Given the description of an element on the screen output the (x, y) to click on. 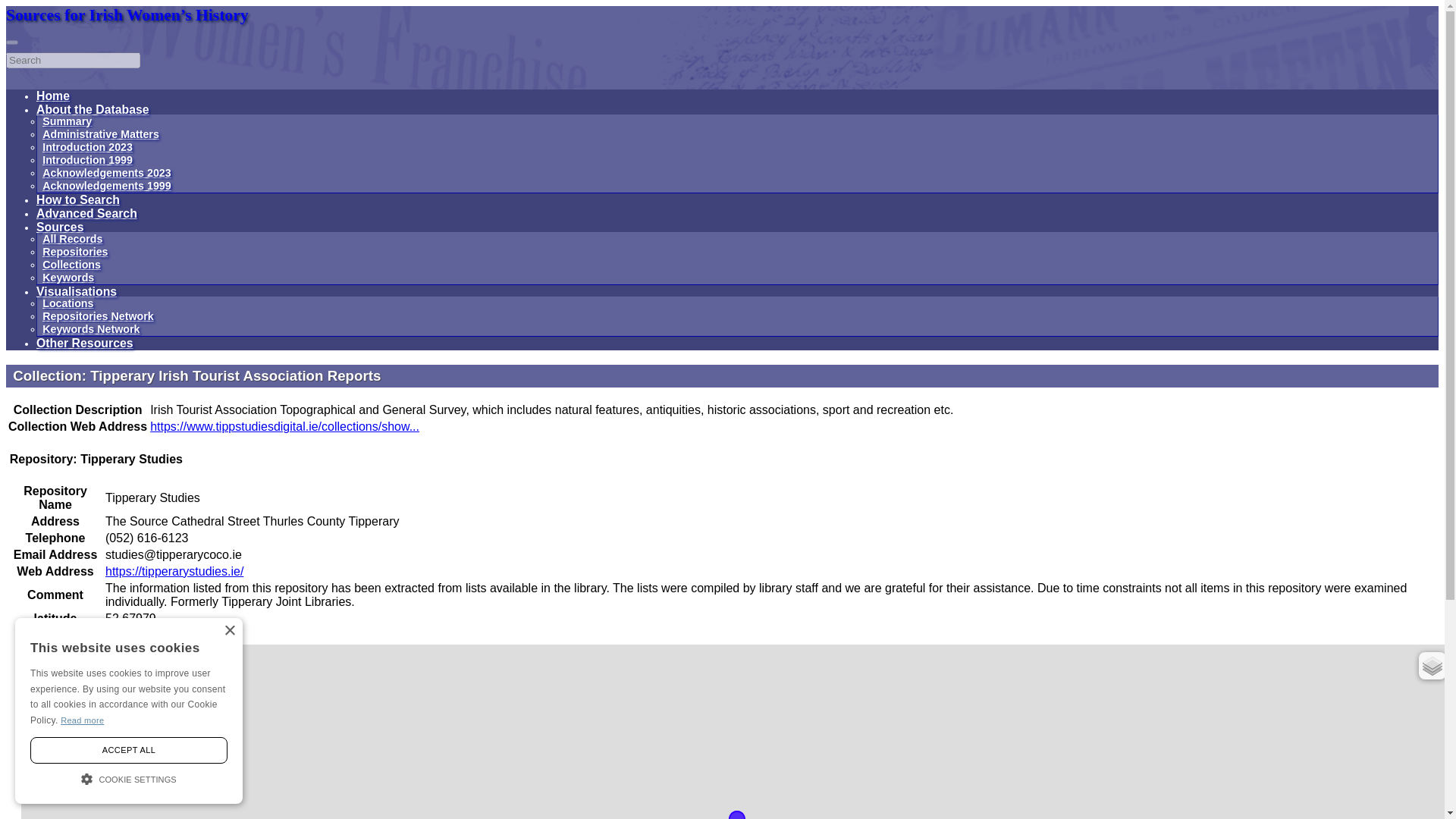
How to Search (77, 199)
All Records (71, 238)
Introduction 1999 (87, 159)
- (40, 679)
Keywords (68, 277)
Locations (67, 303)
Read more (82, 719)
Sources (59, 226)
Repositories Network (98, 316)
Other Resources (84, 342)
Introduction 2023 (87, 146)
Home (52, 95)
Zoom out (40, 679)
Collections (71, 264)
Acknowledgements 1999 (106, 185)
